Given the description of an element on the screen output the (x, y) to click on. 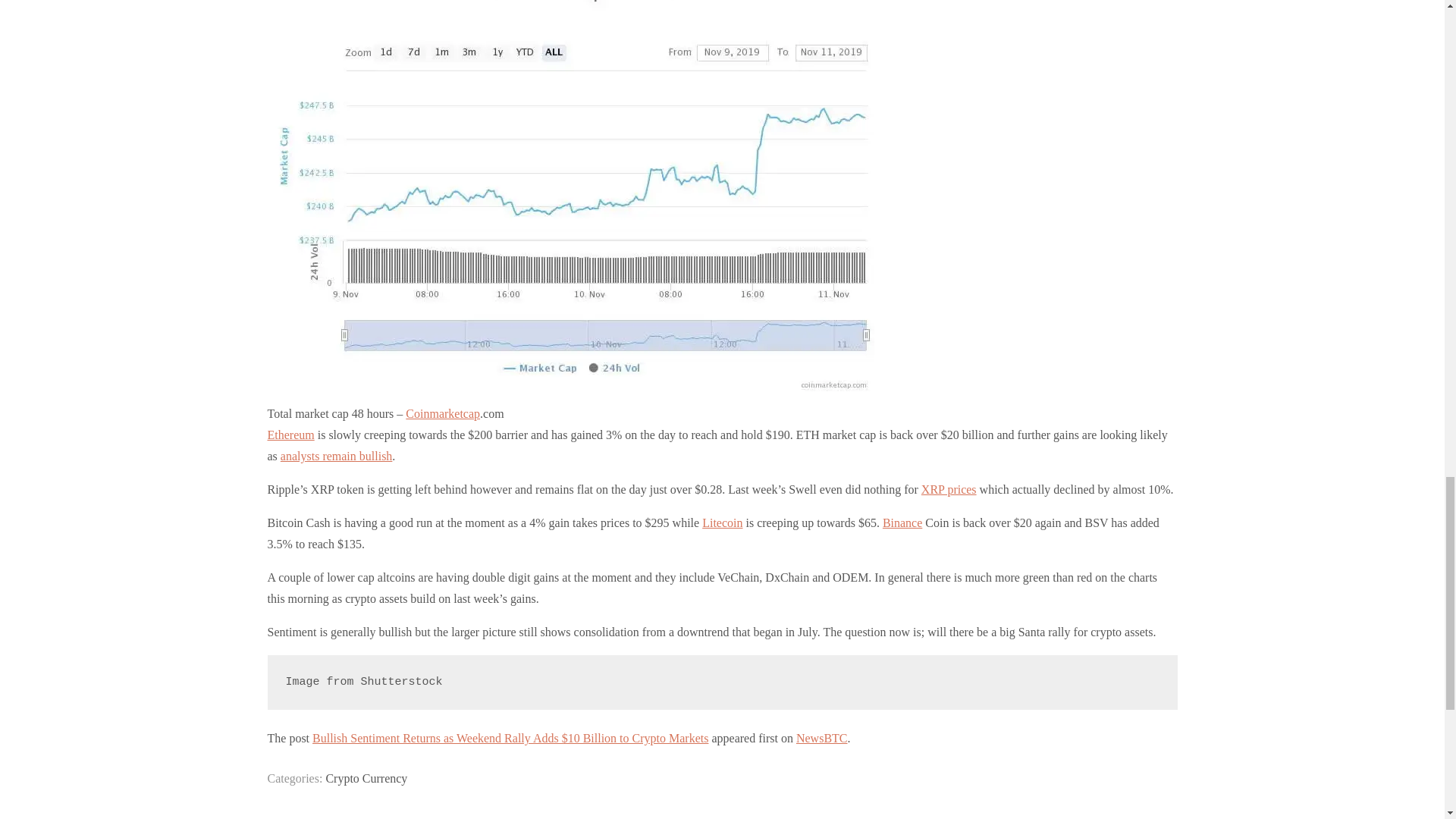
Ethereum (290, 434)
Coinmarketcap (443, 413)
Binance (901, 522)
NewsBTC (821, 738)
Crypto Currency (365, 778)
XRP prices (948, 489)
analysts remain bullish (337, 455)
Litecoin (721, 522)
